Given the description of an element on the screen output the (x, y) to click on. 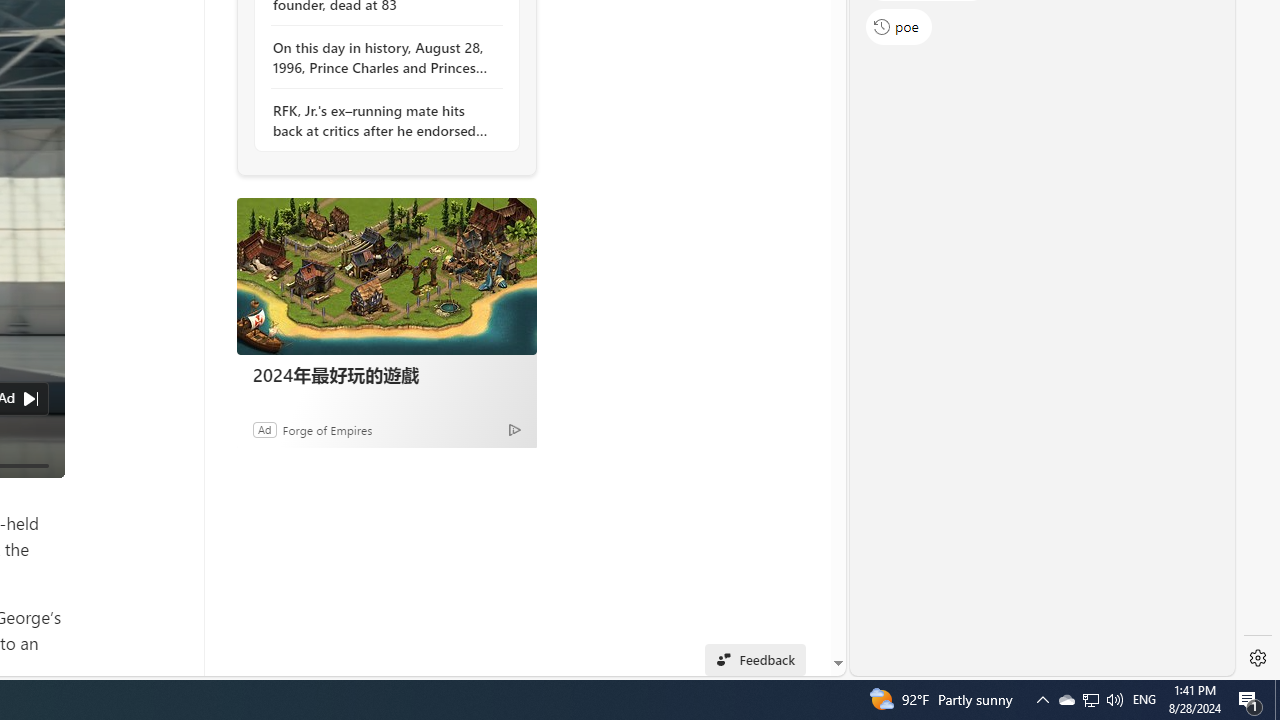
Unmute (38, 489)
Forge of Empires (326, 429)
poe (898, 26)
Settings (1258, 658)
